Given the description of an element on the screen output the (x, y) to click on. 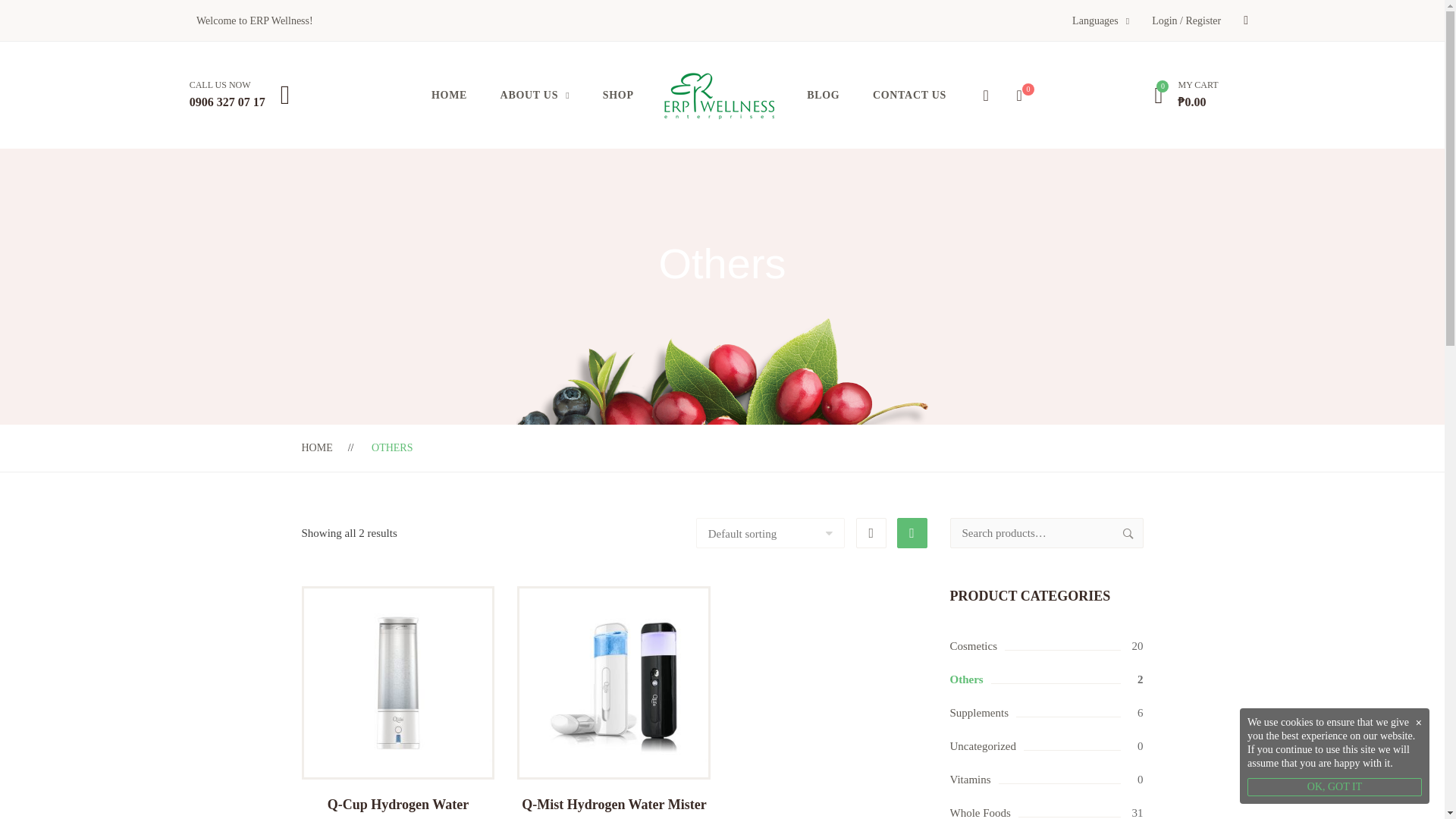
Q-Cup Hydrogen Water Generator (398, 806)
ERP Wellness Enterprises (718, 95)
HOME (317, 447)
Languages (1100, 20)
ABOUT US (534, 94)
CONTACT US (908, 94)
